Given the description of an element on the screen output the (x, y) to click on. 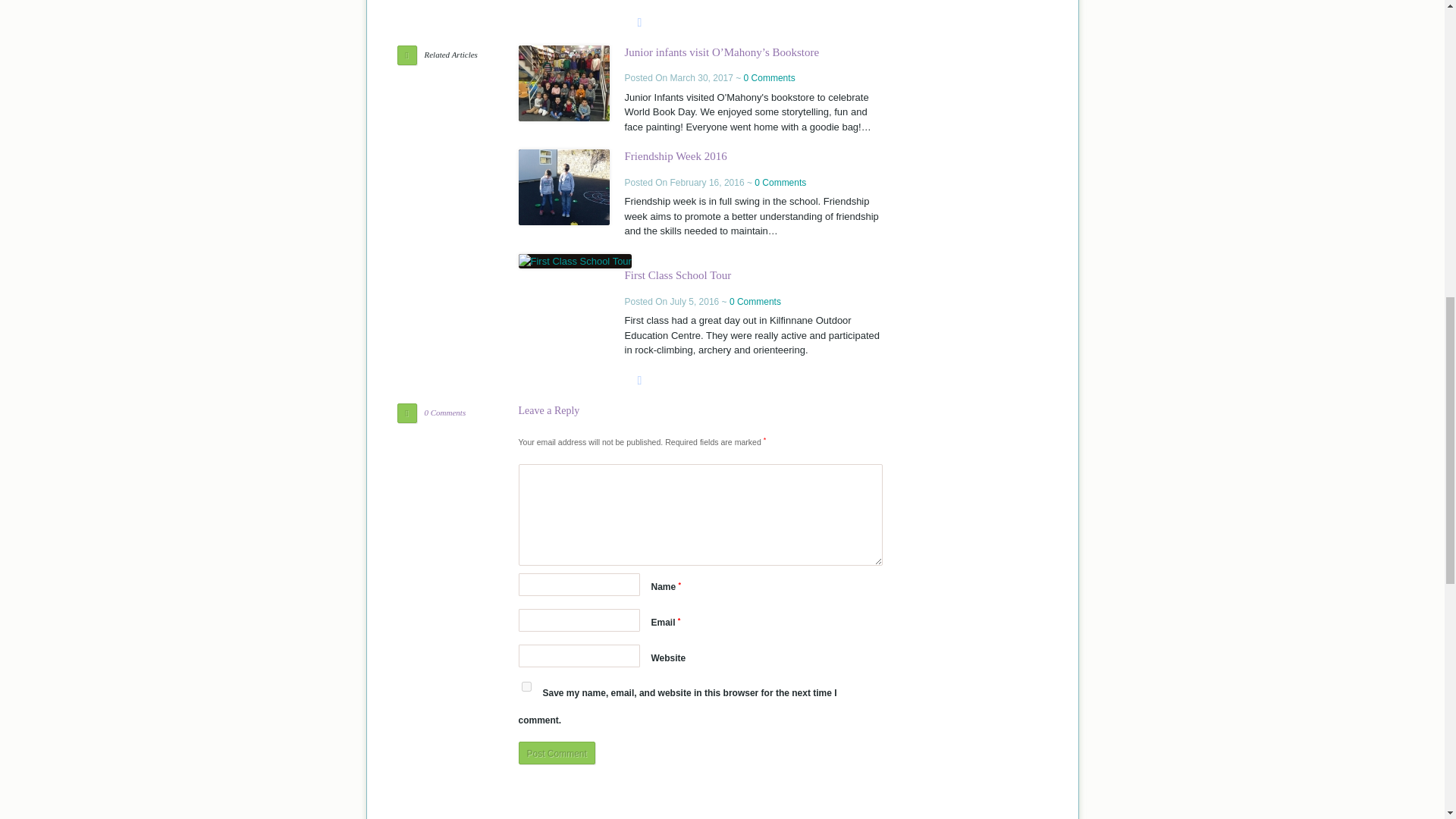
0 Comments (754, 300)
yes (526, 686)
First Class School Tour (678, 275)
Post Comment (556, 753)
First Class School Tour (574, 260)
Friendship Week 2016 (564, 187)
0 Comments (780, 182)
Friendship Week 2016 (675, 155)
0 Comments (769, 77)
Friendship Week 2016 (675, 155)
First Class School Tour (678, 275)
Post Comment (556, 753)
